Given the description of an element on the screen output the (x, y) to click on. 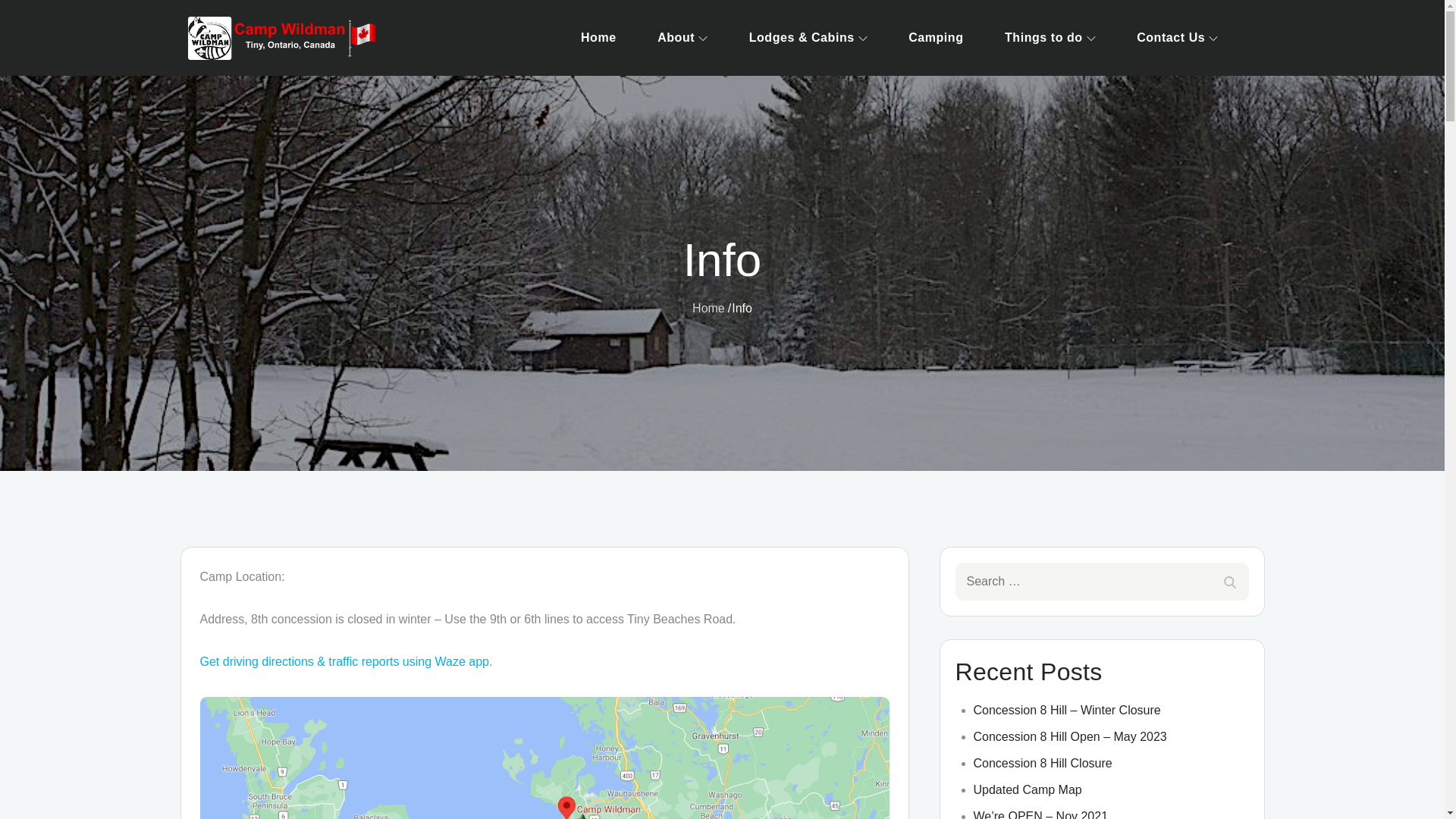
Home (709, 308)
Contact Us (1177, 38)
Concession 8 Hill Closure (1043, 762)
Updated Camp Map (1027, 789)
Search (1228, 581)
Things to do (1050, 38)
